Given the description of an element on the screen output the (x, y) to click on. 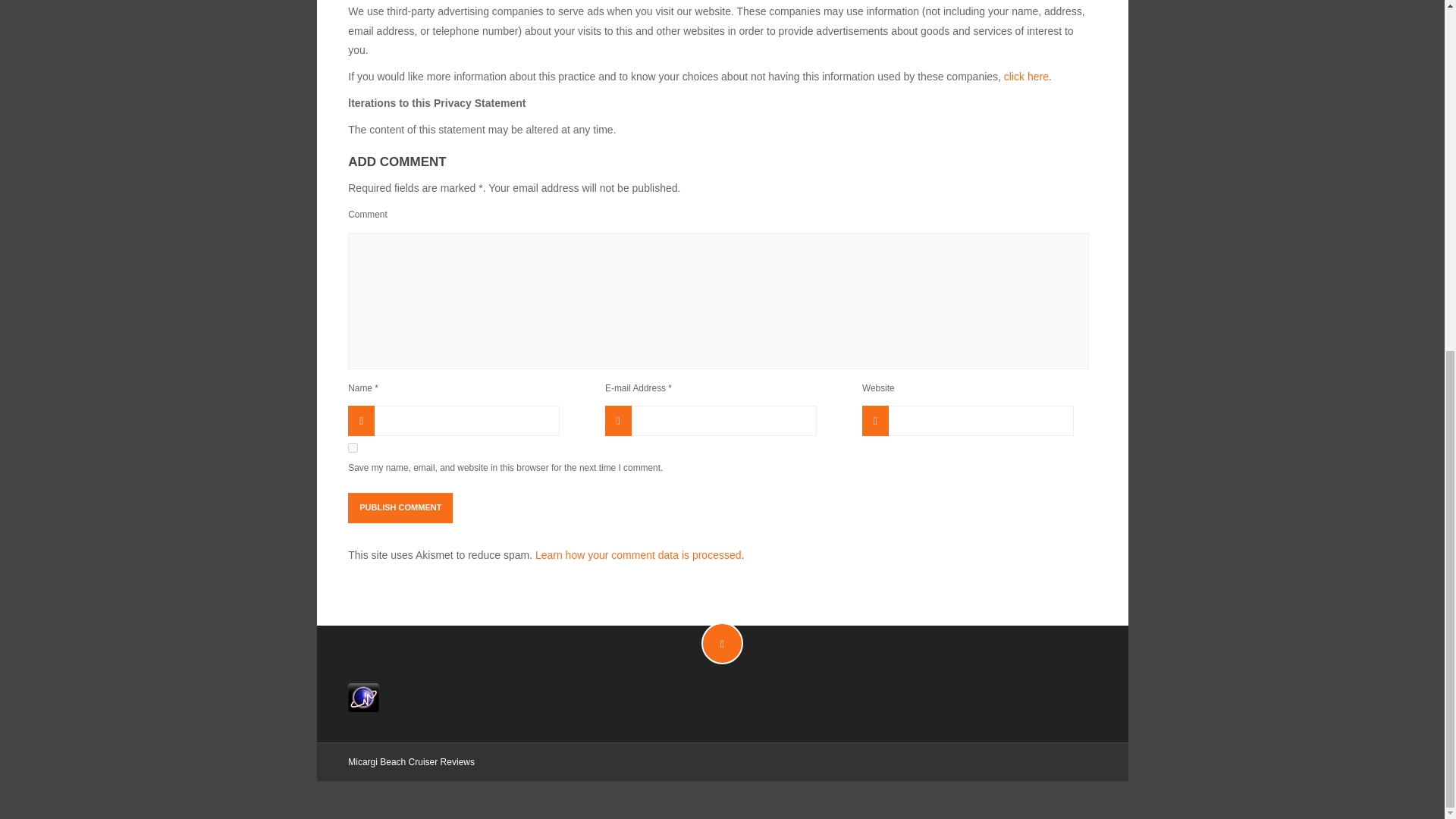
click here (1026, 76)
Publish Comment (399, 507)
yes (352, 447)
eXTReMe Tracker - Free Website Statistics (362, 695)
Learn how your comment data is processed (638, 553)
Publish Comment (399, 507)
